Given the description of an element on the screen output the (x, y) to click on. 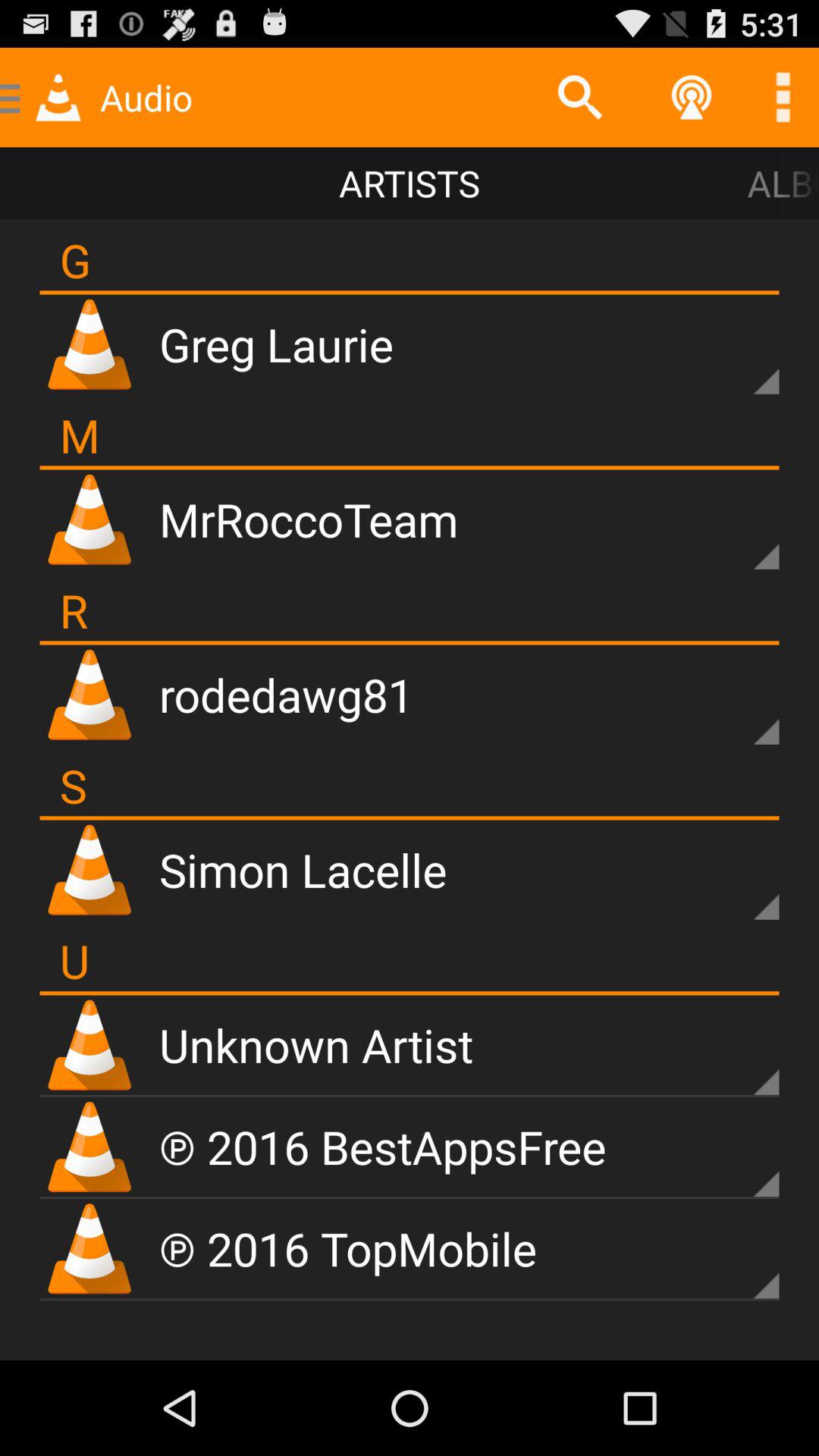
opens sub-menu (740, 1056)
